Given the description of an element on the screen output the (x, y) to click on. 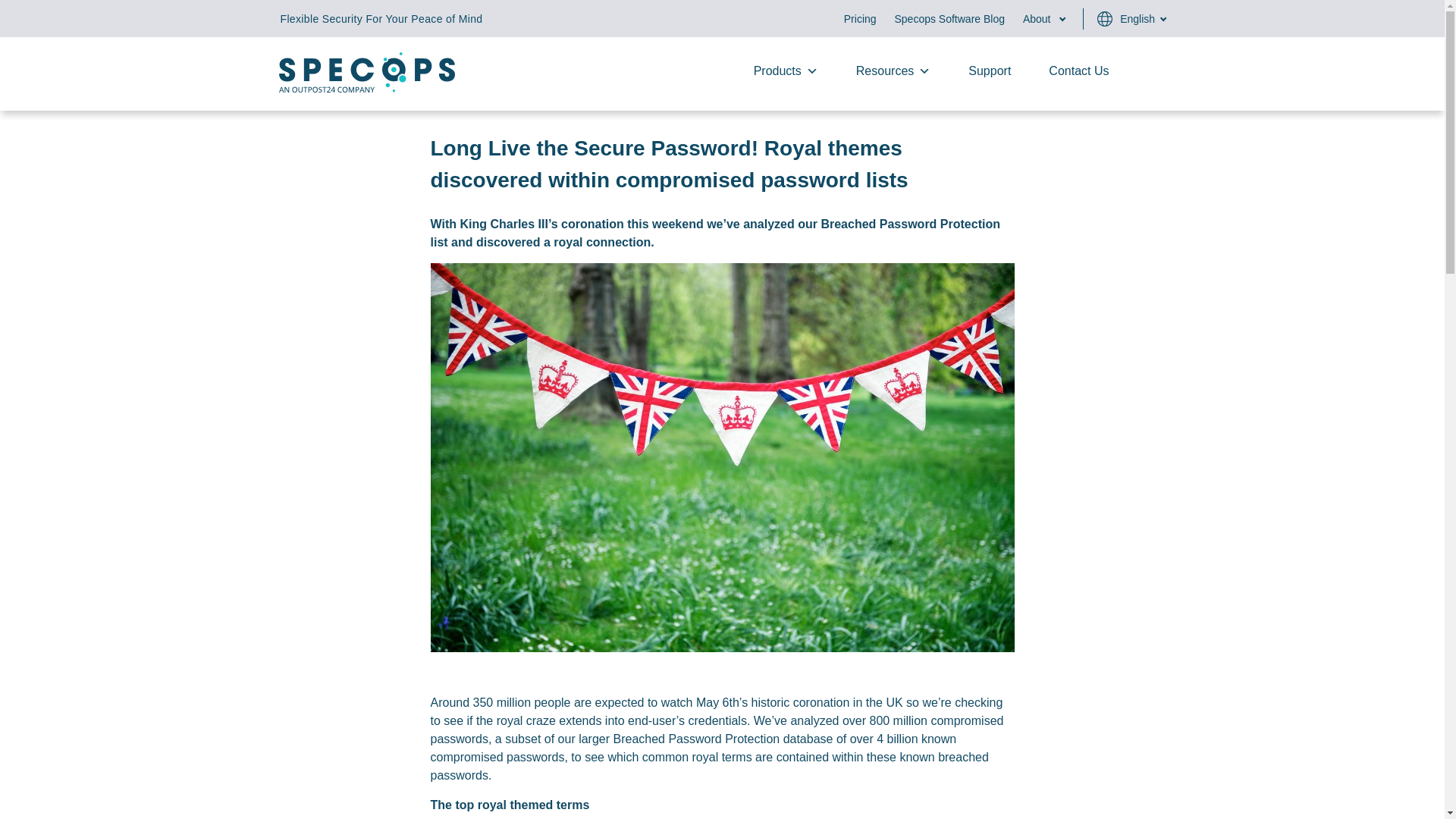
Support (989, 71)
Specops Software Blog (948, 19)
Contact Us (1078, 71)
Products (786, 71)
English (1136, 19)
Pricing (860, 19)
Specops Software (366, 88)
About (1037, 19)
Resources (893, 71)
